Given the description of an element on the screen output the (x, y) to click on. 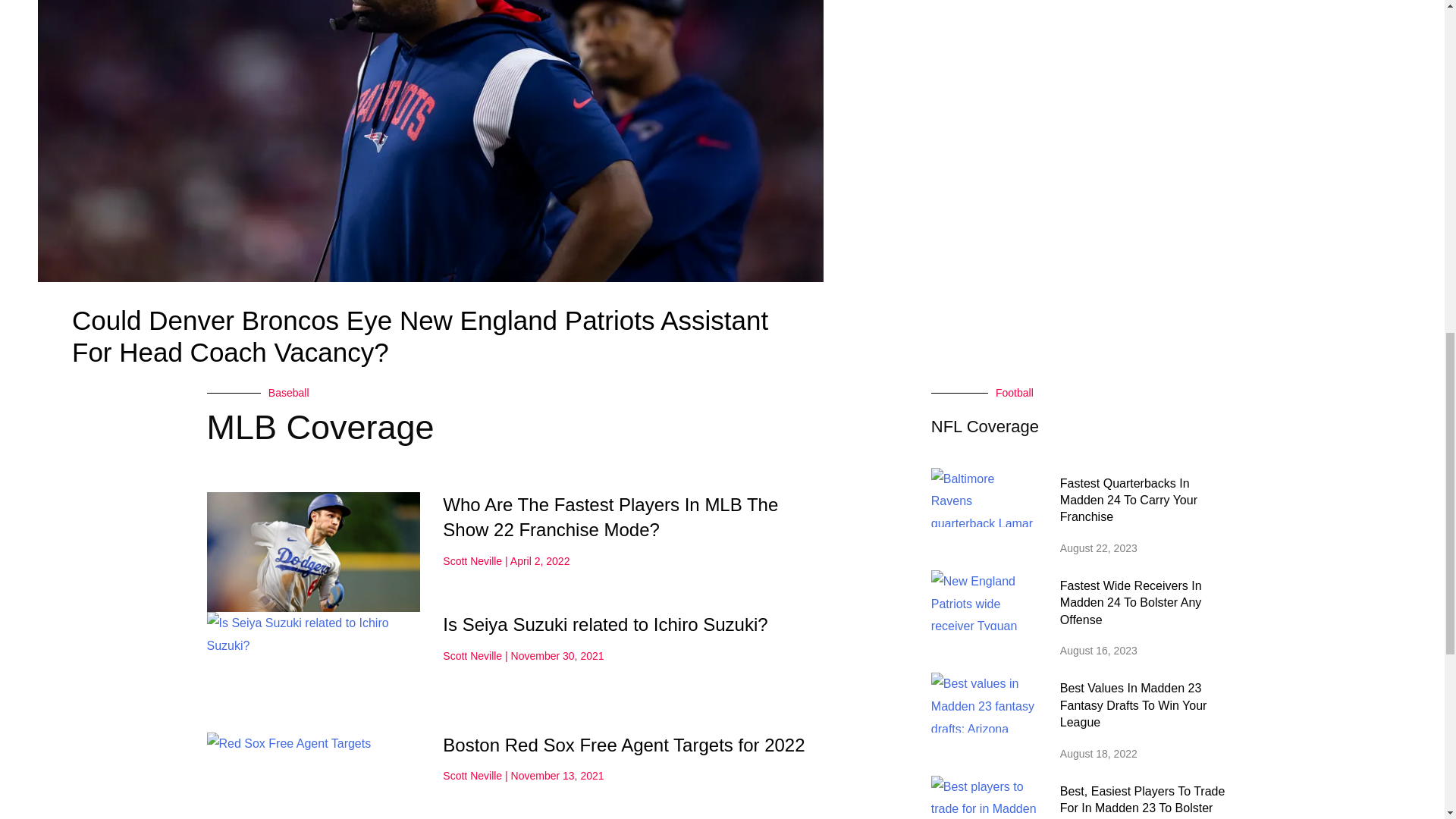
Fastest Wide Receivers In Madden 24 To Bolster Any Offense (1130, 602)
Boston Red Sox Free Agent Targets for 2022 (623, 744)
Fastest Quarterbacks In Madden 24 To Carry Your Franchise (1127, 500)
Best Values In Madden 23 Fantasy Drafts To Win Your League (1133, 704)
Is Seiya Suzuki related to Ichiro Suzuki? (604, 624)
